Given the description of an element on the screen output the (x, y) to click on. 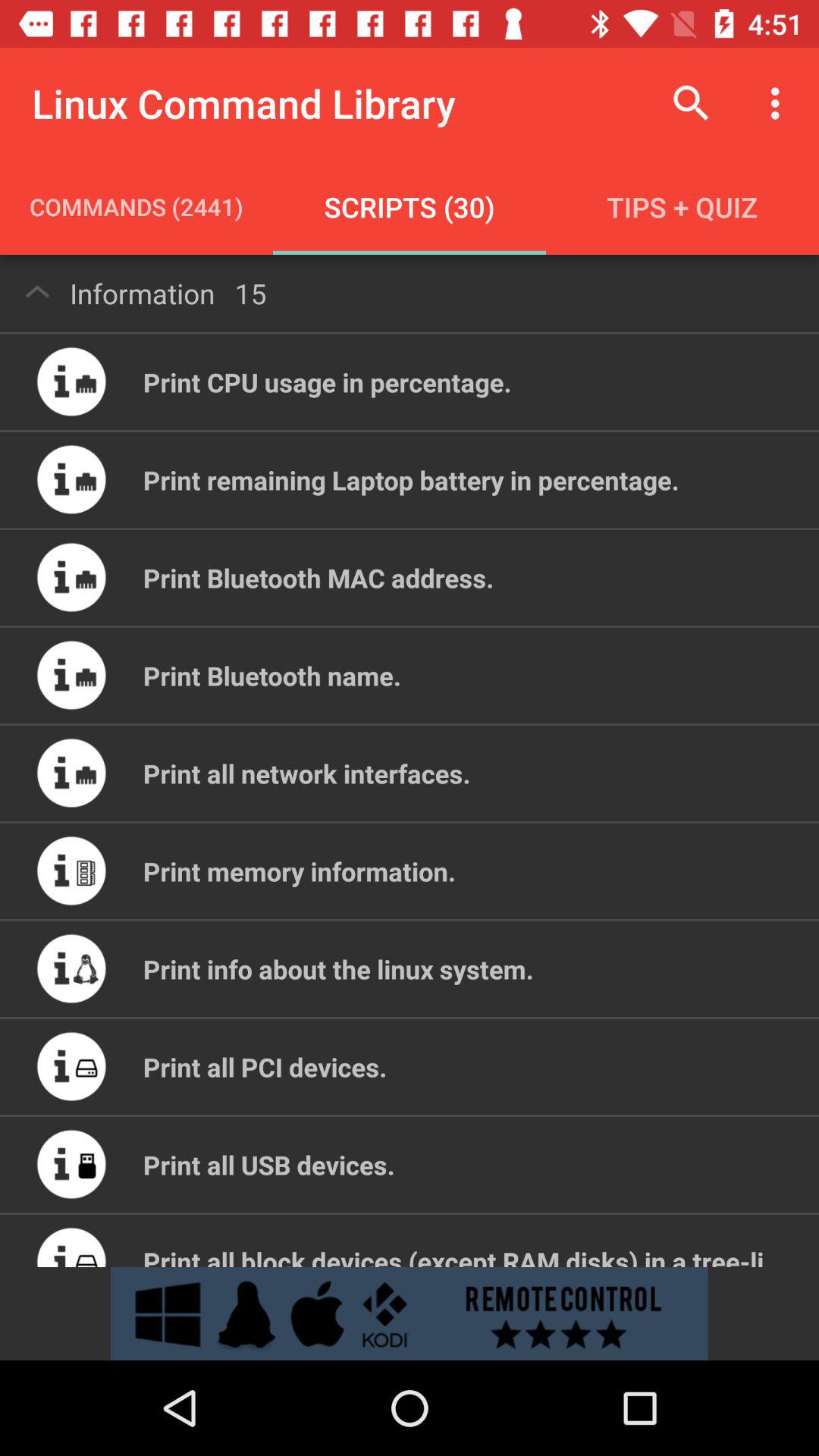
tap the item next to linux command library icon (691, 103)
